Given the description of an element on the screen output the (x, y) to click on. 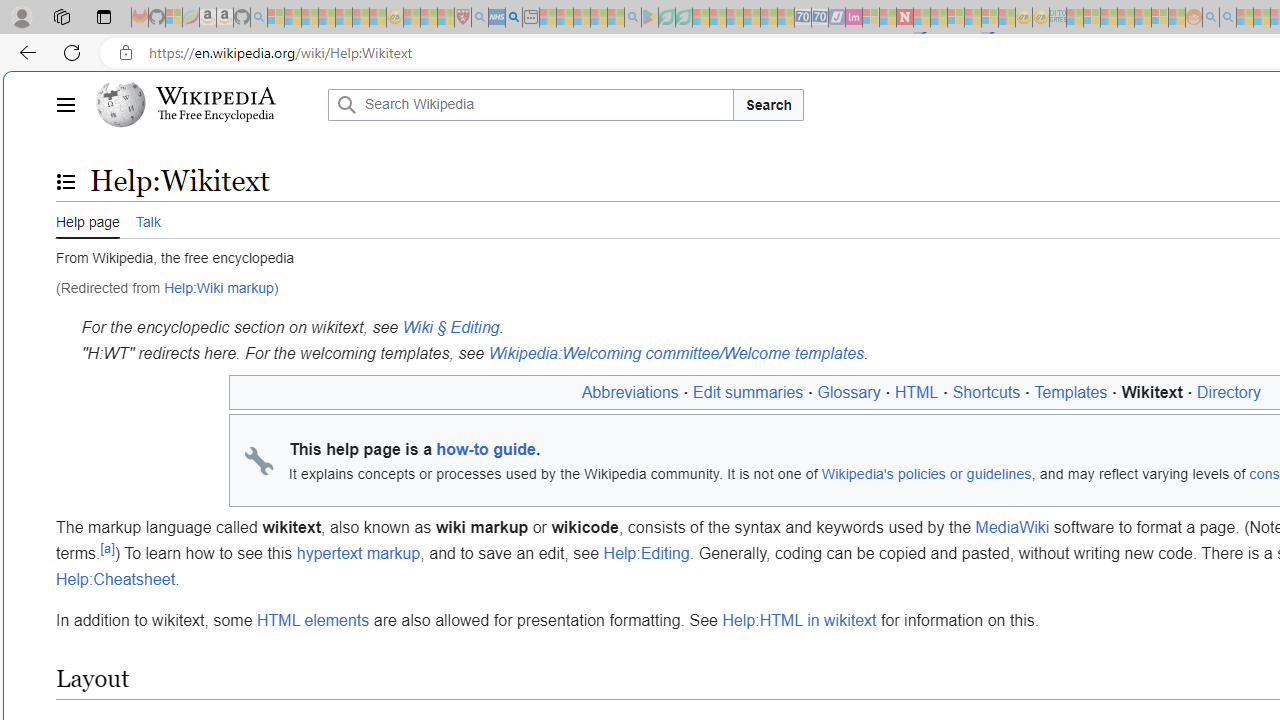
Help:Wiki markup (218, 288)
Edit summaries (747, 392)
hypertext markup (358, 554)
HTML (916, 392)
